Given the description of an element on the screen output the (x, y) to click on. 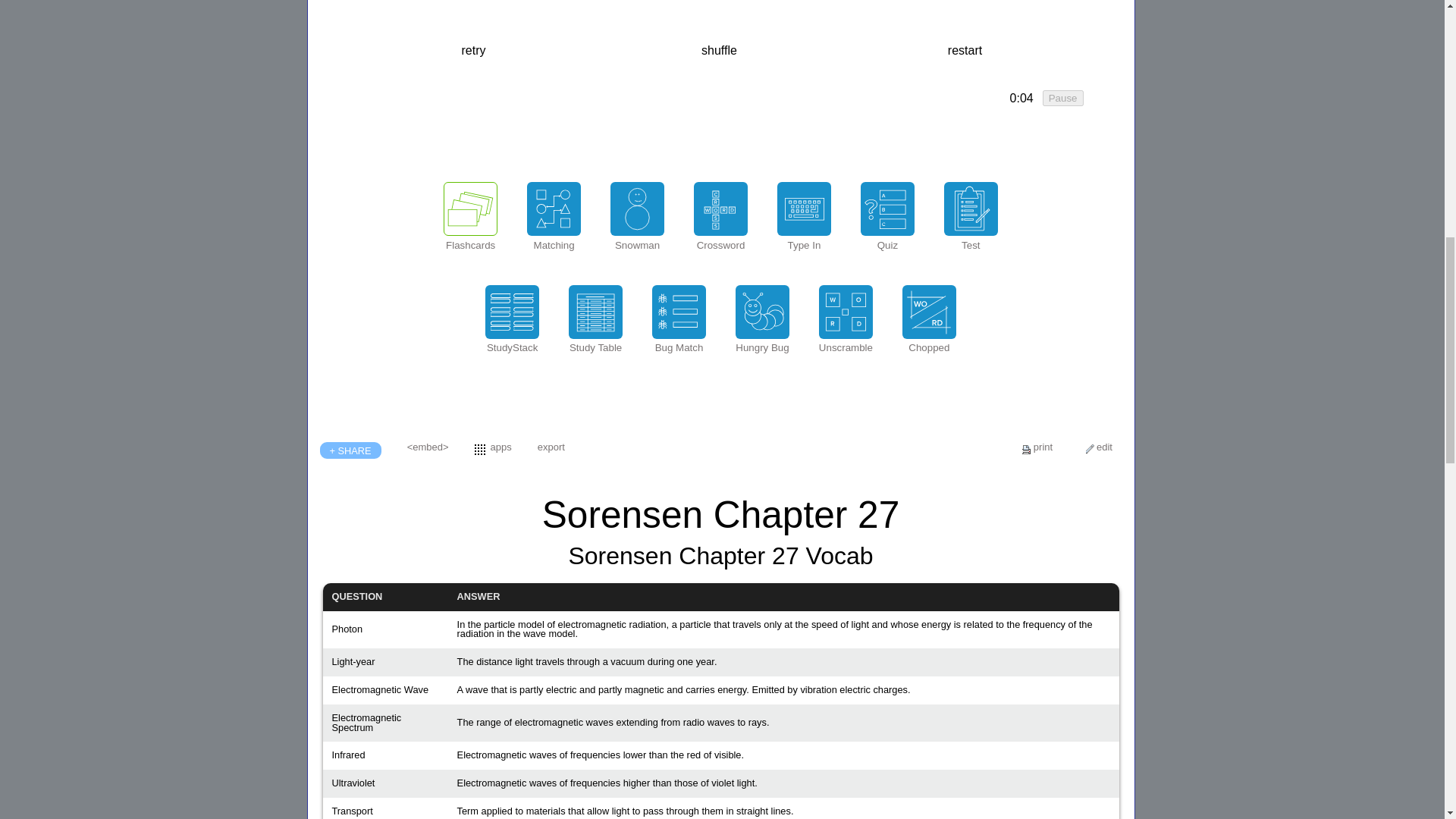
Shuffle the cards in the 'remaining' box (718, 50)
Pause (1062, 98)
click to hide (1021, 98)
Move all cards back to the 'remaining' box (964, 50)
apps (501, 446)
